Given the description of an element on the screen output the (x, y) to click on. 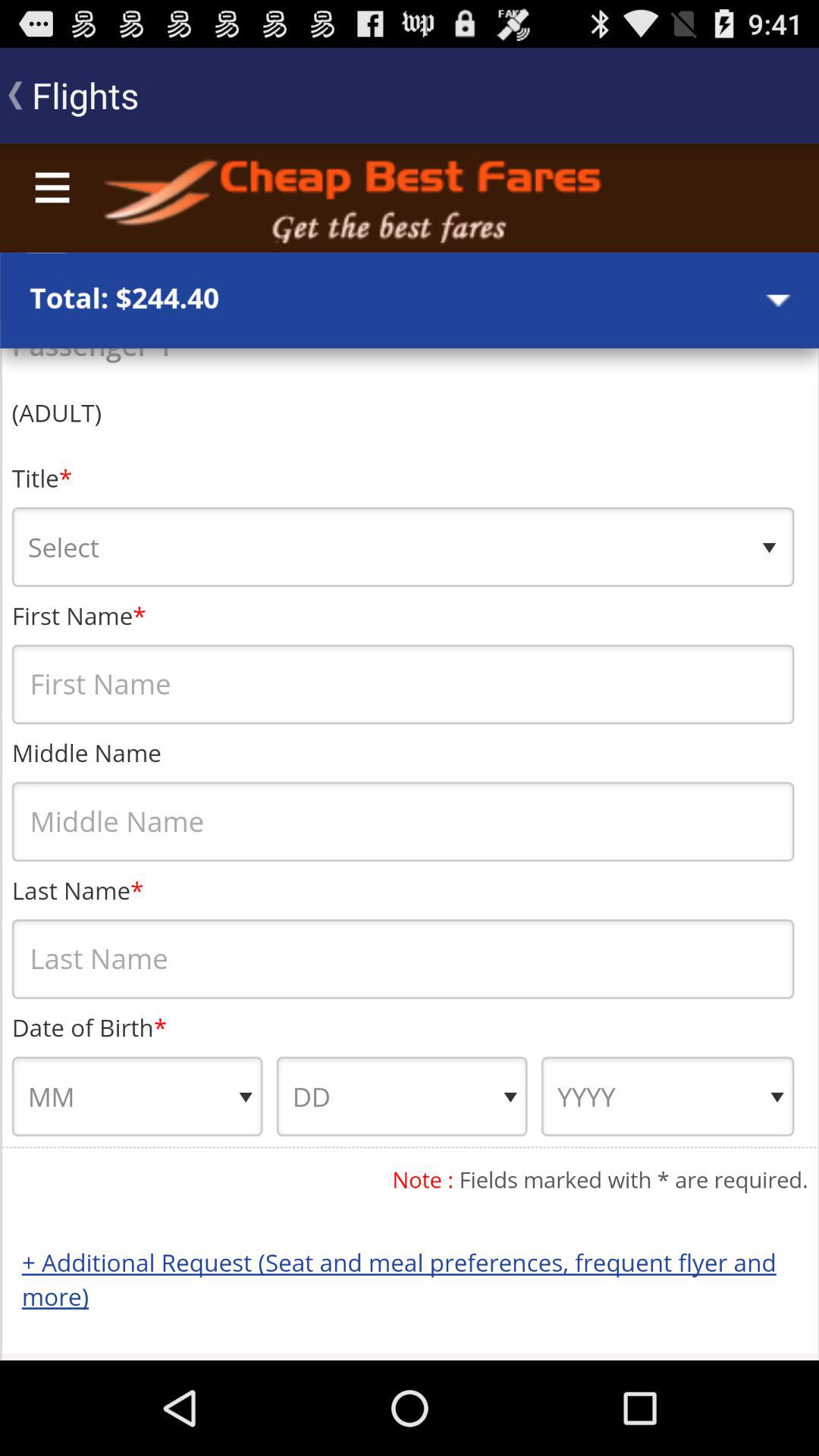
main window (409, 751)
